Given the description of an element on the screen output the (x, y) to click on. 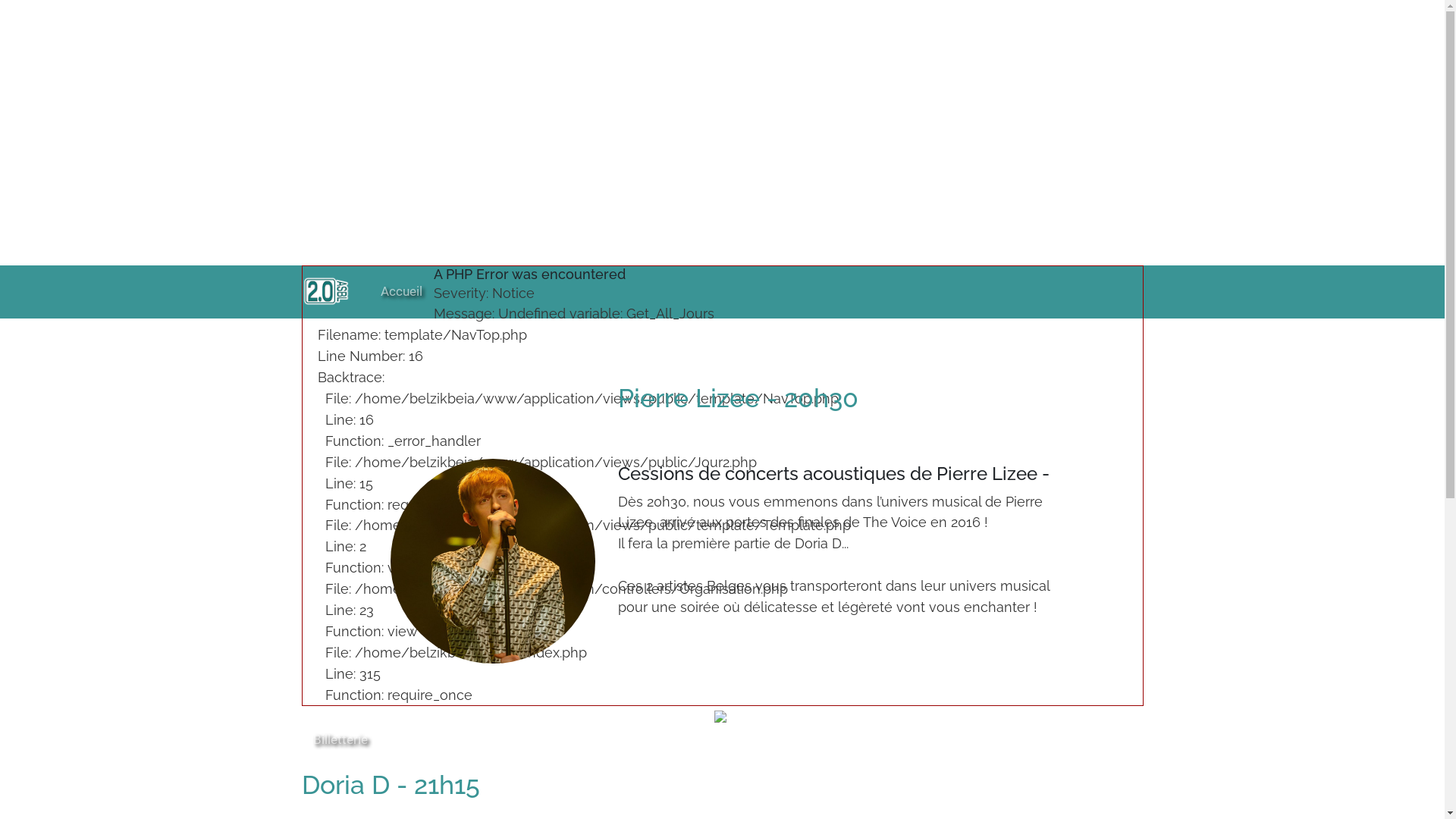
Billetterie Element type: text (340, 738)
Accueil Element type: text (401, 290)
